Given the description of an element on the screen output the (x, y) to click on. 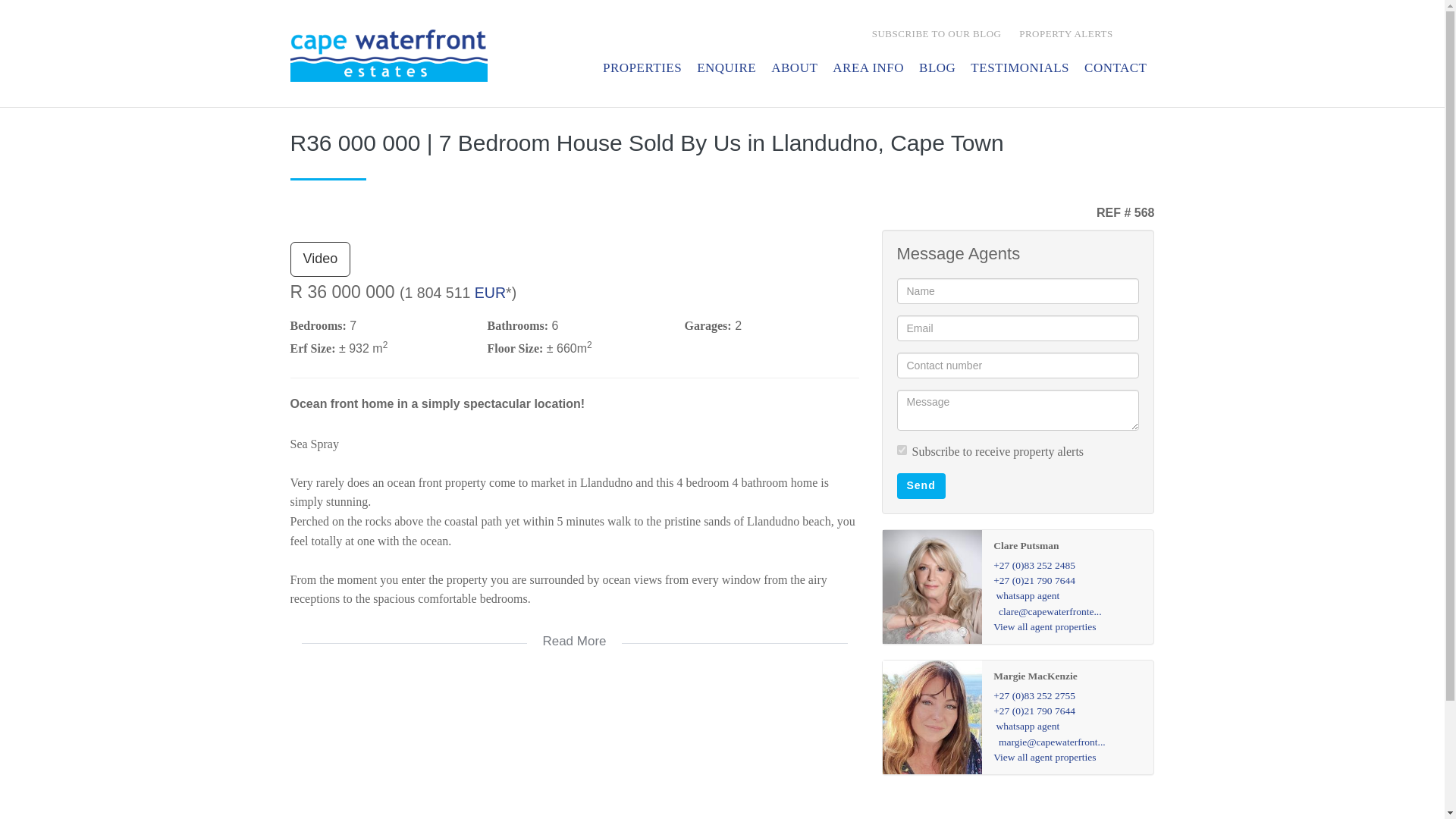
Cape Waterfront Estates, Estate Agency Logo (388, 54)
BLOG (936, 69)
ABOUT (793, 69)
ENQUIRE (725, 69)
Read More (574, 631)
 PROPERTY ALERTS (1064, 35)
TESTIMONIALS (1019, 69)
on (900, 450)
 SUBSCRIBE TO OUR BLOG (935, 35)
CONTACT (1115, 69)
PROPERTIES (641, 69)
google map (574, 749)
AREA INFO (868, 69)
